Given the description of an element on the screen output the (x, y) to click on. 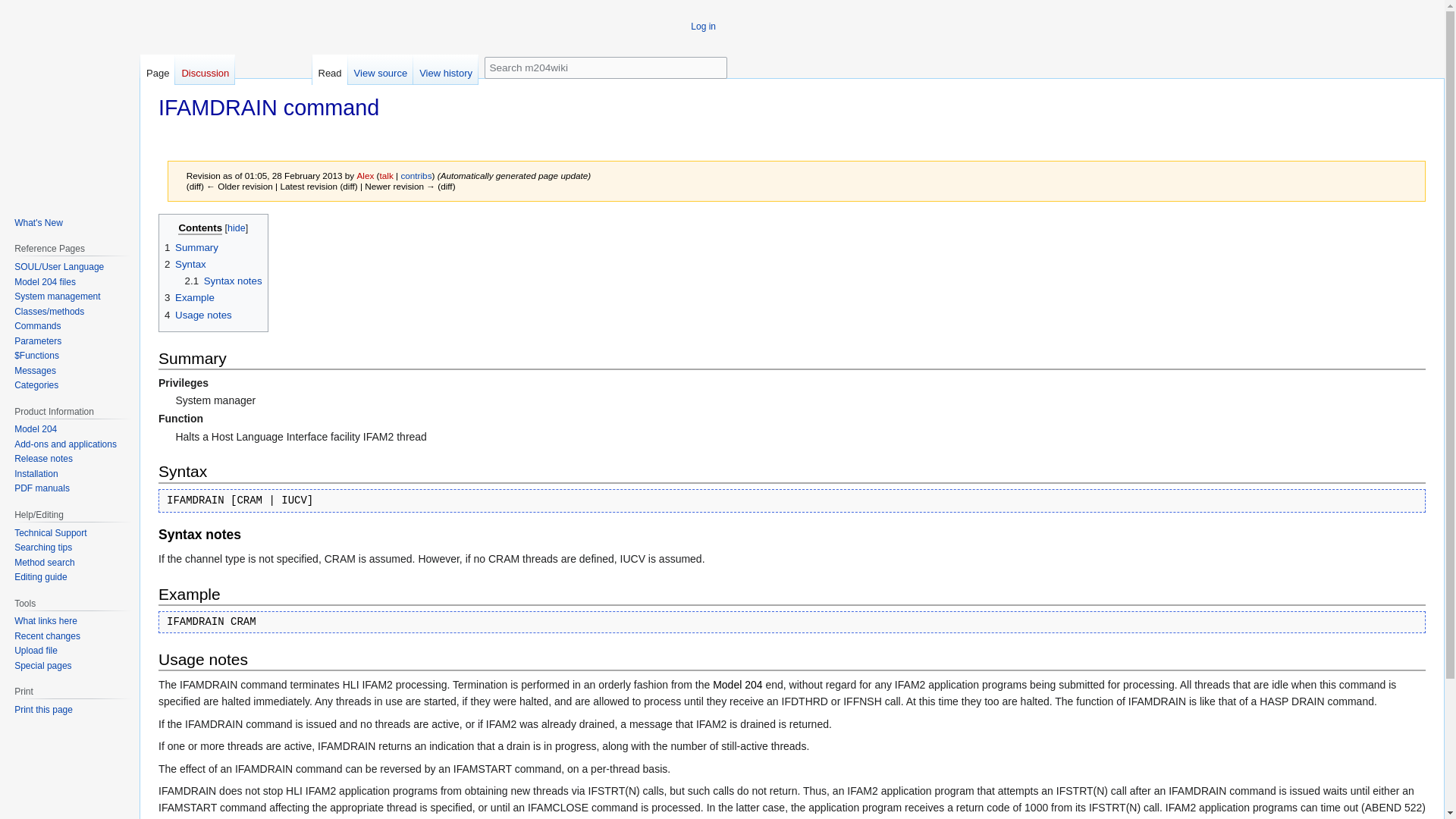
System management (57, 296)
2.1 Syntax notes (223, 280)
Log in (703, 26)
Model 204 files (44, 281)
Visit the main page (66, 117)
Alex (365, 175)
Search (715, 64)
Go (715, 64)
View history (446, 69)
Search the pages for this text (715, 64)
PDF manuals (41, 488)
2 Syntax (185, 264)
Messages (35, 370)
View source (380, 69)
Installation (36, 473)
